Given the description of an element on the screen output the (x, y) to click on. 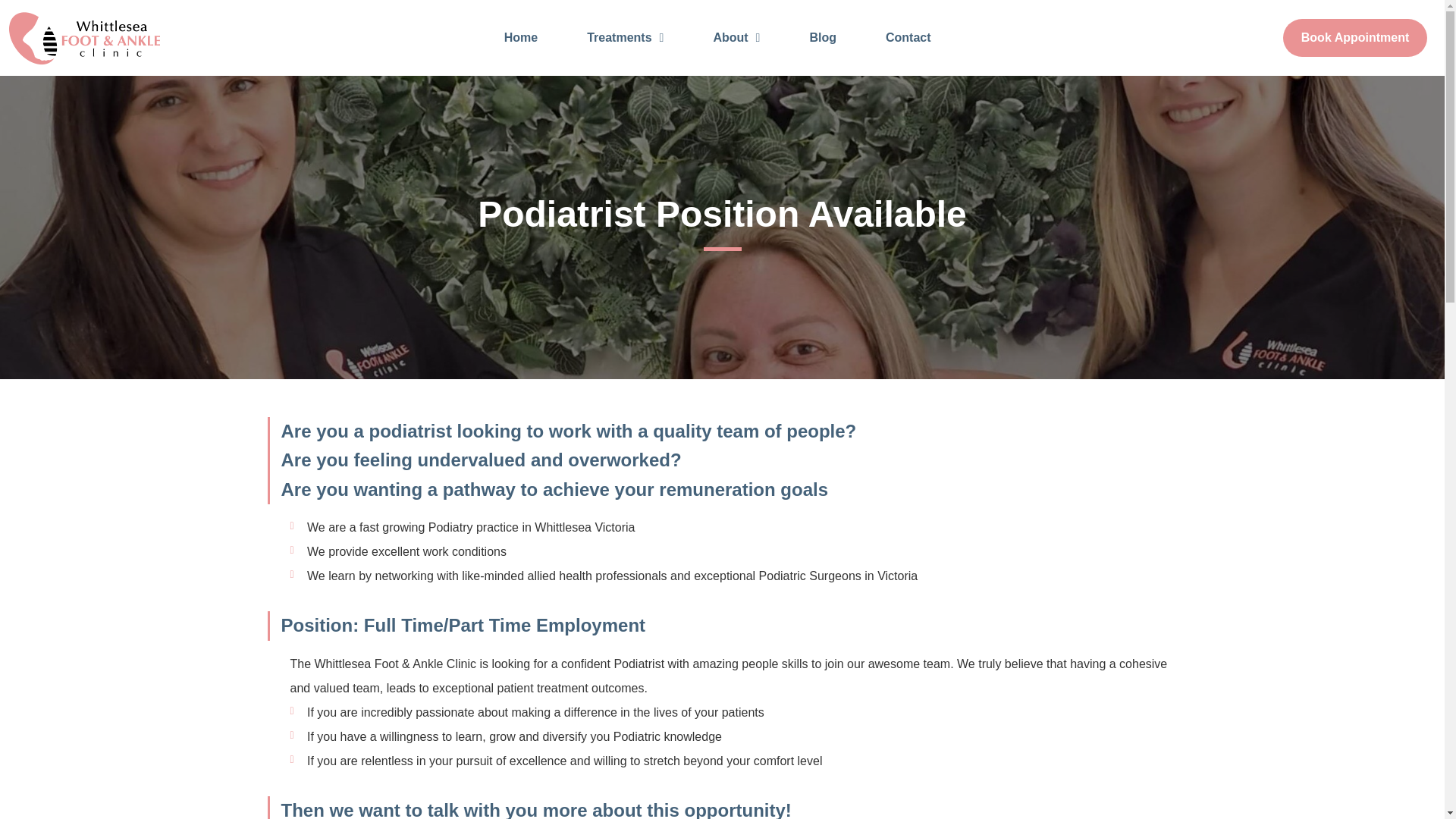
About (735, 37)
Home (521, 37)
Treatments (625, 37)
Book Appointment (1355, 37)
Contact (908, 37)
Blog (822, 37)
